Given the description of an element on the screen output the (x, y) to click on. 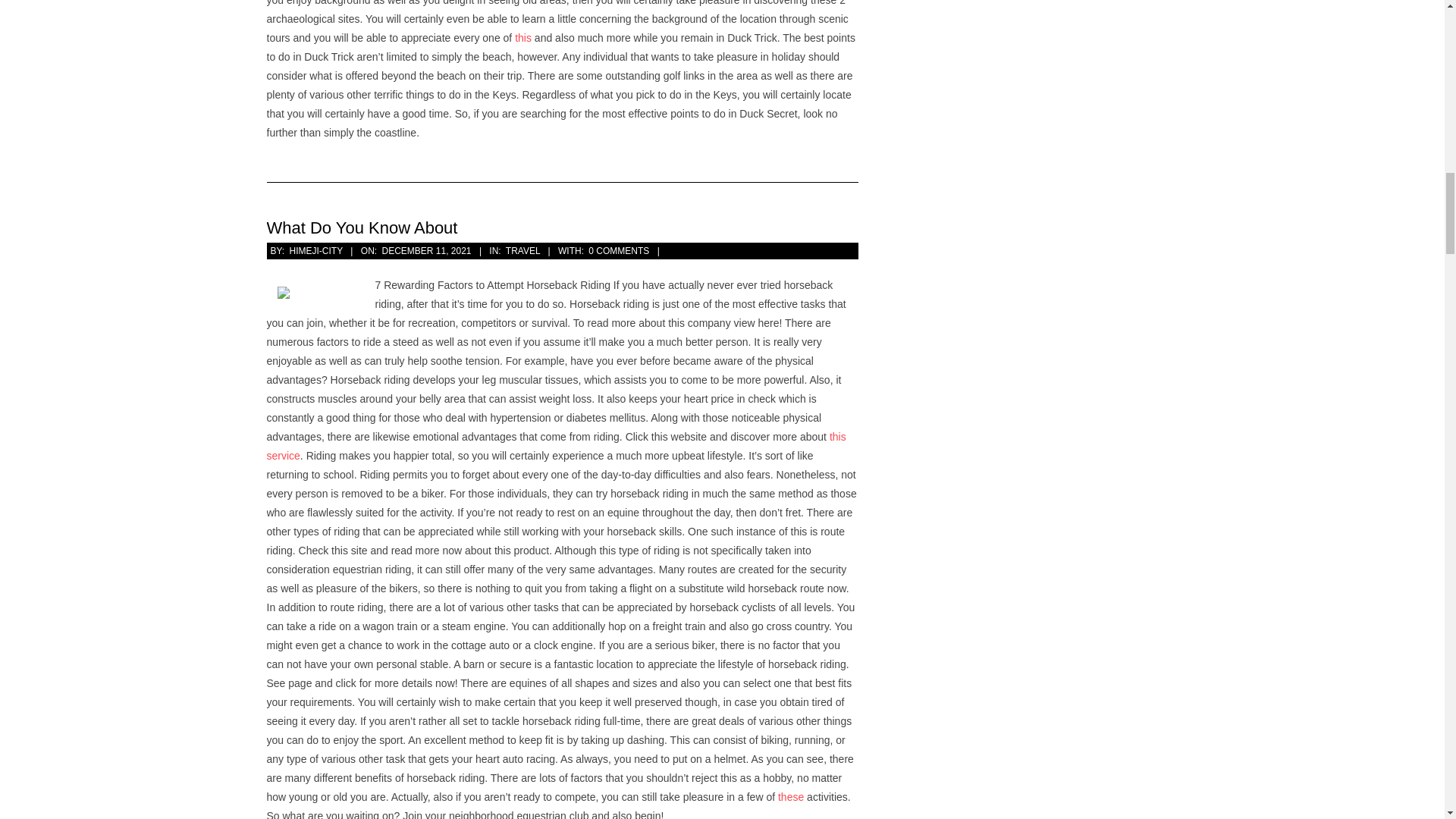
these (790, 797)
Saturday, December 11, 2021, 9:10 am (425, 250)
TRAVEL (522, 250)
HIMEJI-CITY (315, 250)
0 COMMENTS (618, 250)
What Do You Know About (362, 227)
this (523, 37)
this service (555, 445)
Posts by himeji-city (315, 250)
